Given the description of an element on the screen output the (x, y) to click on. 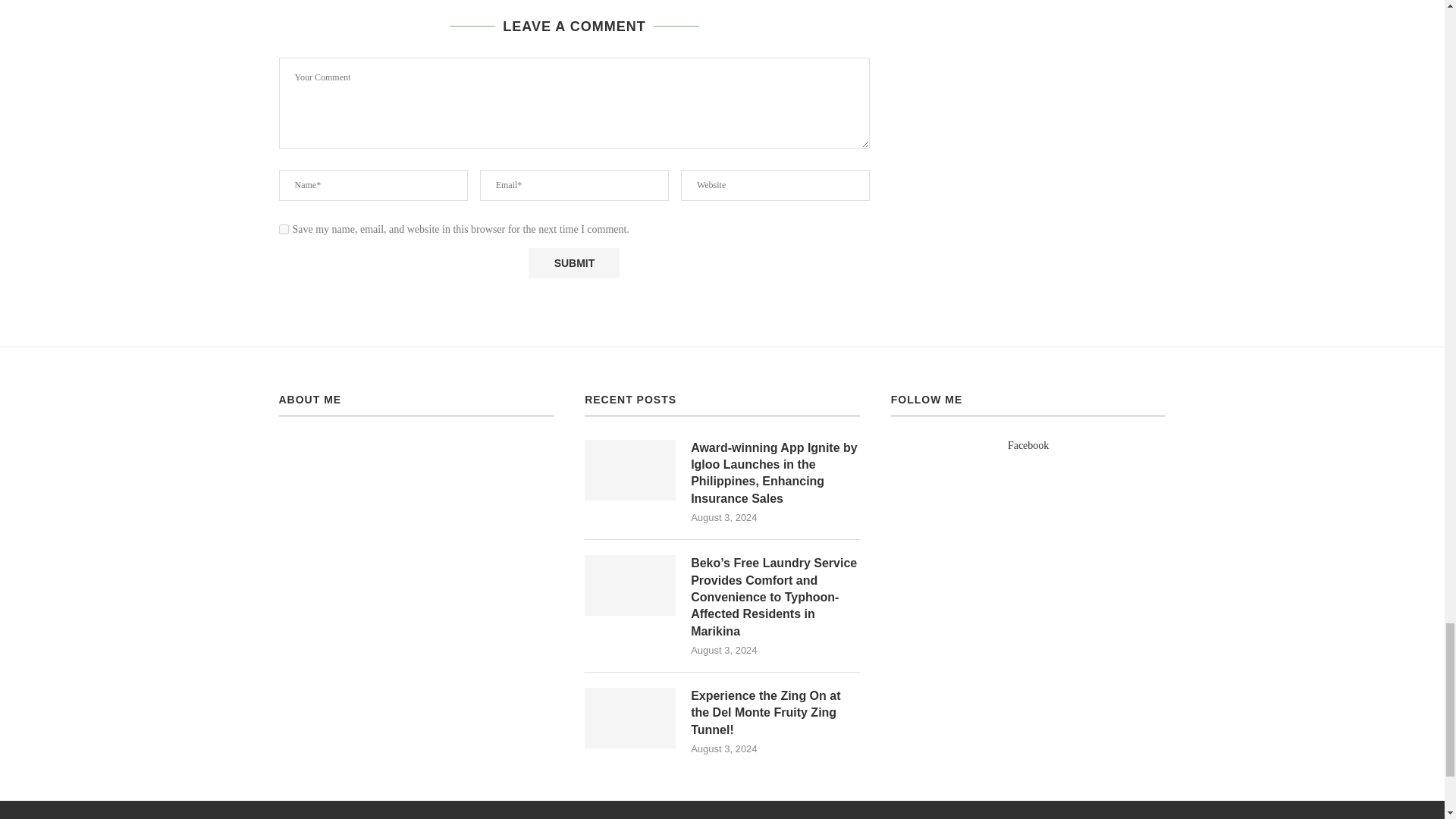
Experience the Zing On at the Del Monte Fruity Zing Tunnel! (630, 717)
yes (283, 229)
Submit (574, 263)
Experience the Zing On at the Del Monte Fruity Zing Tunnel! (775, 712)
